Given the description of an element on the screen output the (x, y) to click on. 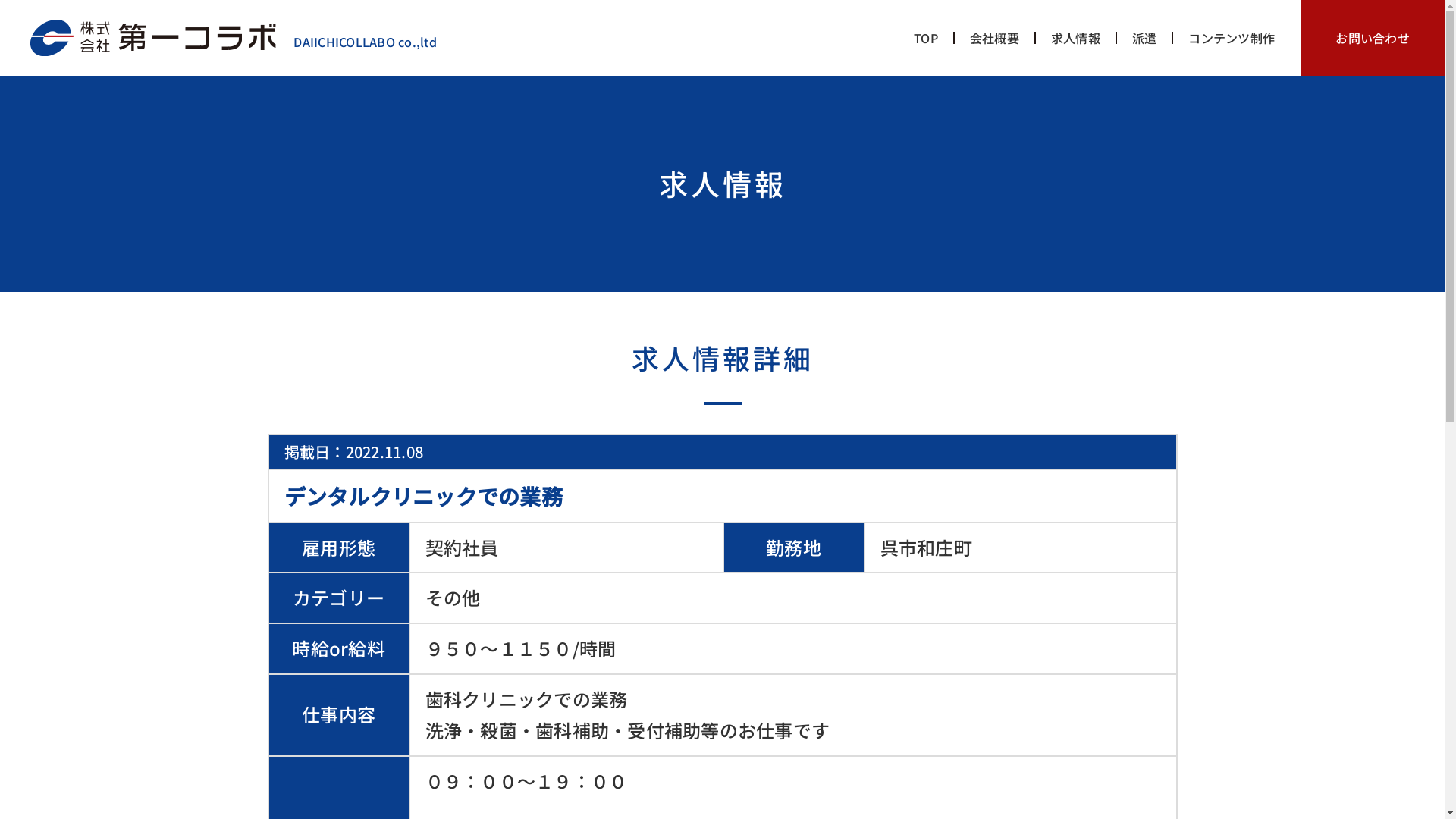
TOP Element type: text (925, 37)
DAIICHICOLLABO co.,ltd Element type: text (233, 42)
